Given the description of an element on the screen output the (x, y) to click on. 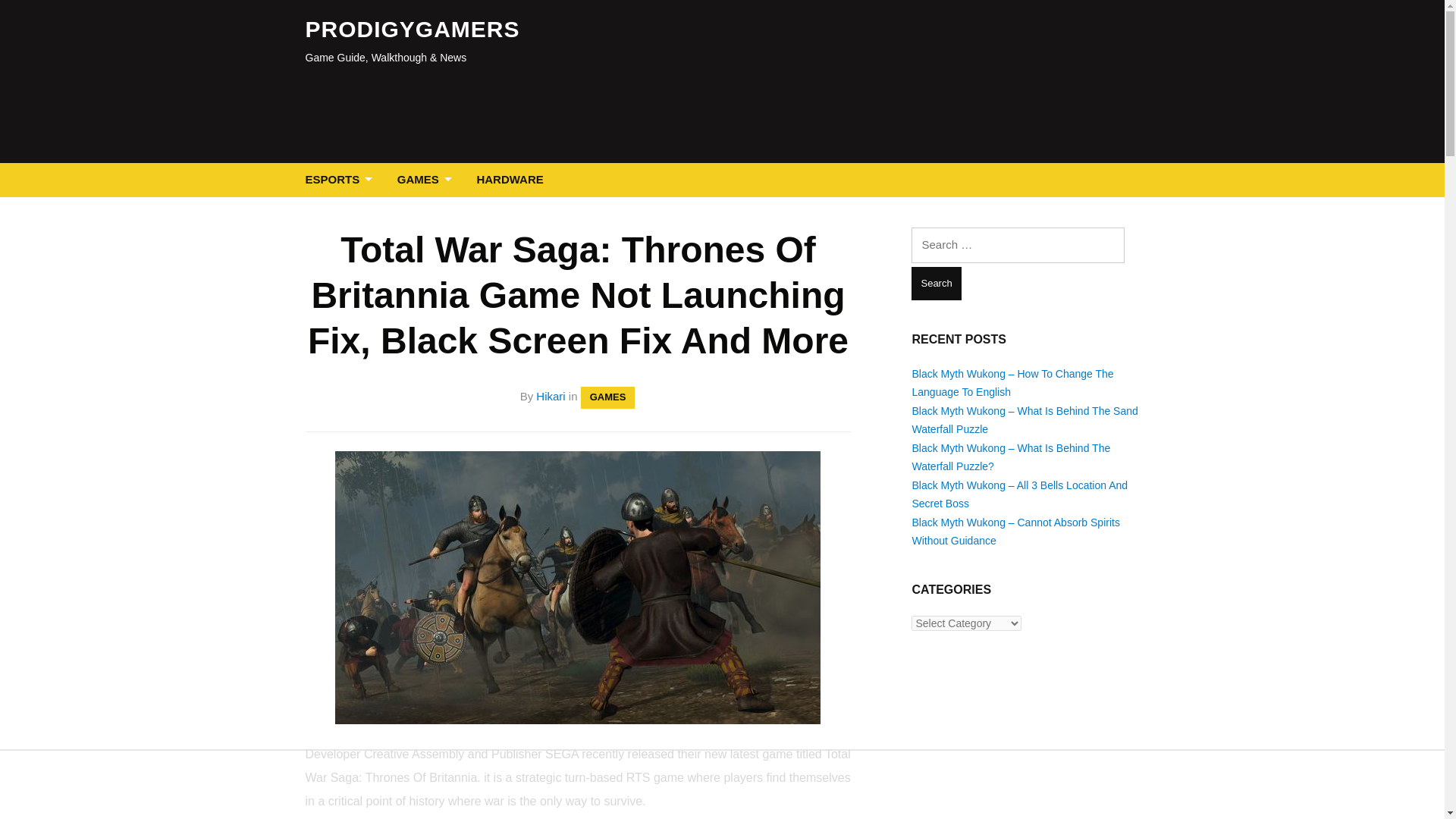
ESPORTS (341, 179)
GAMES (607, 397)
Hikari (549, 395)
Search (935, 283)
GAMES (427, 179)
Posts by Hikari (549, 395)
Search (935, 283)
PRODIGYGAMERS (411, 28)
HARDWARE (509, 179)
